Given the description of an element on the screen output the (x, y) to click on. 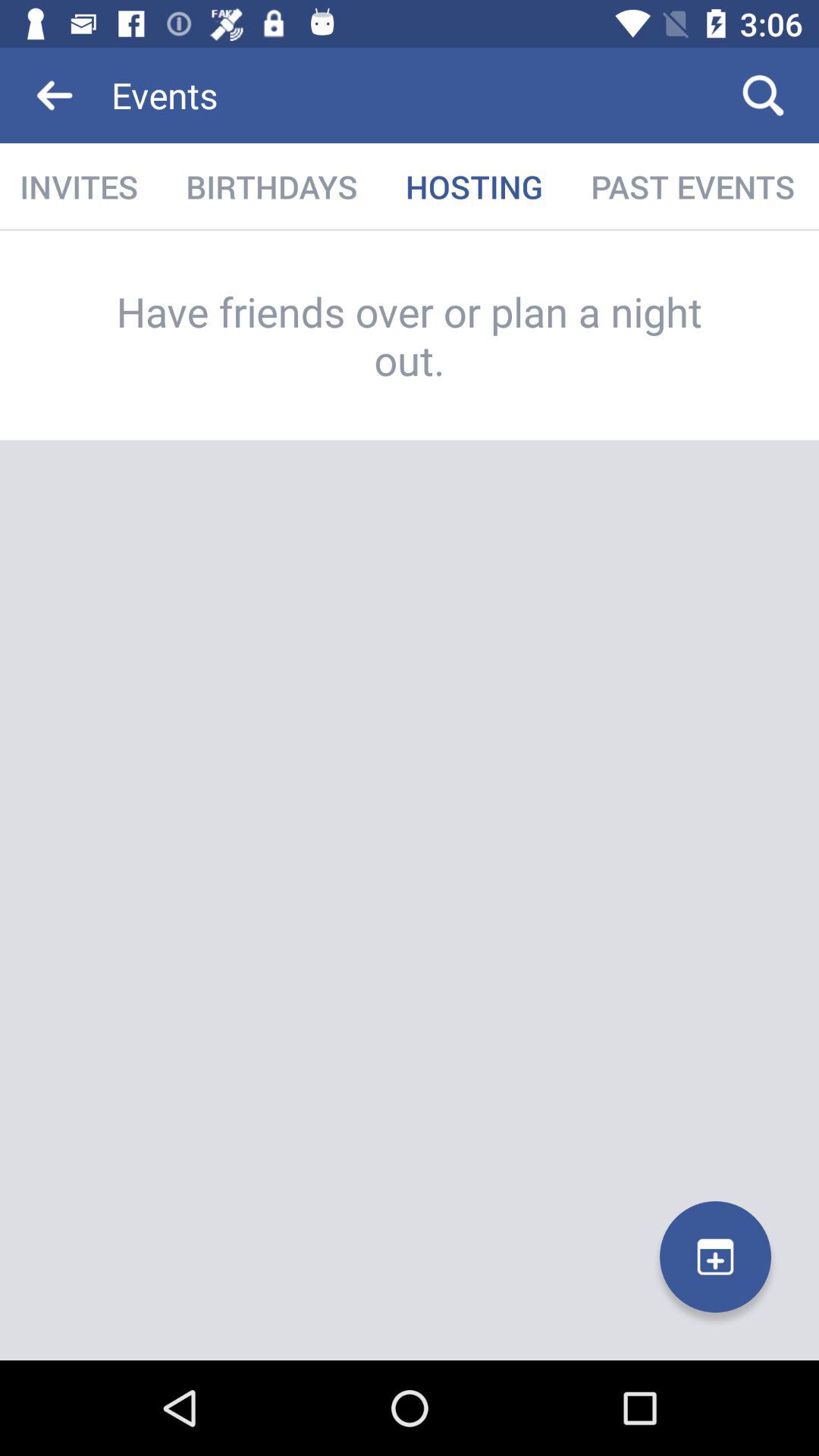
choose icon next to birthdays (474, 186)
